Given the description of an element on the screen output the (x, y) to click on. 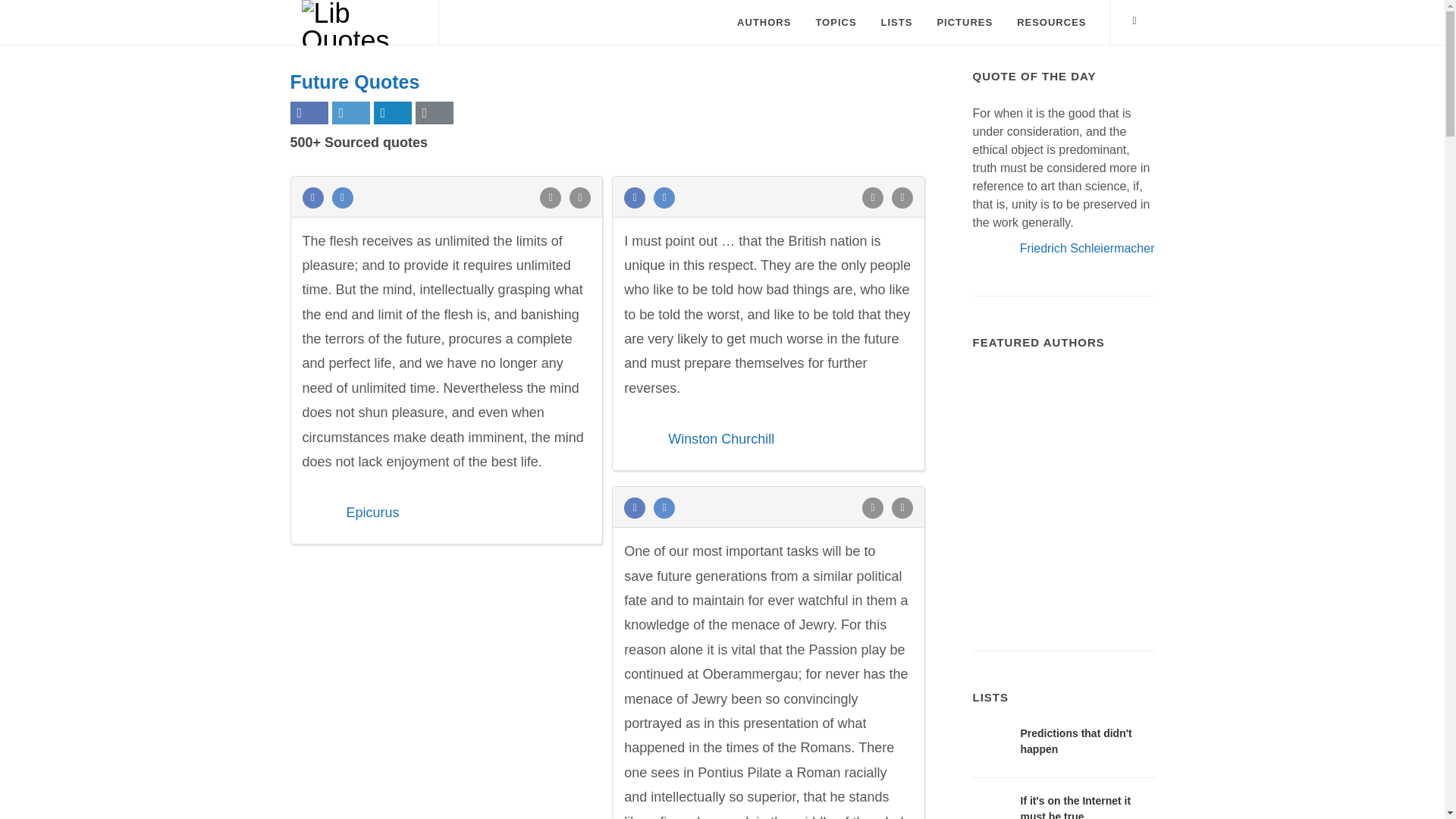
TOPICS (835, 22)
AUTHORS (763, 22)
PICTURES (964, 22)
Winston Churchill (721, 438)
LISTS (896, 22)
RESOURCES (1051, 22)
Epicurus (372, 512)
